Given the description of an element on the screen output the (x, y) to click on. 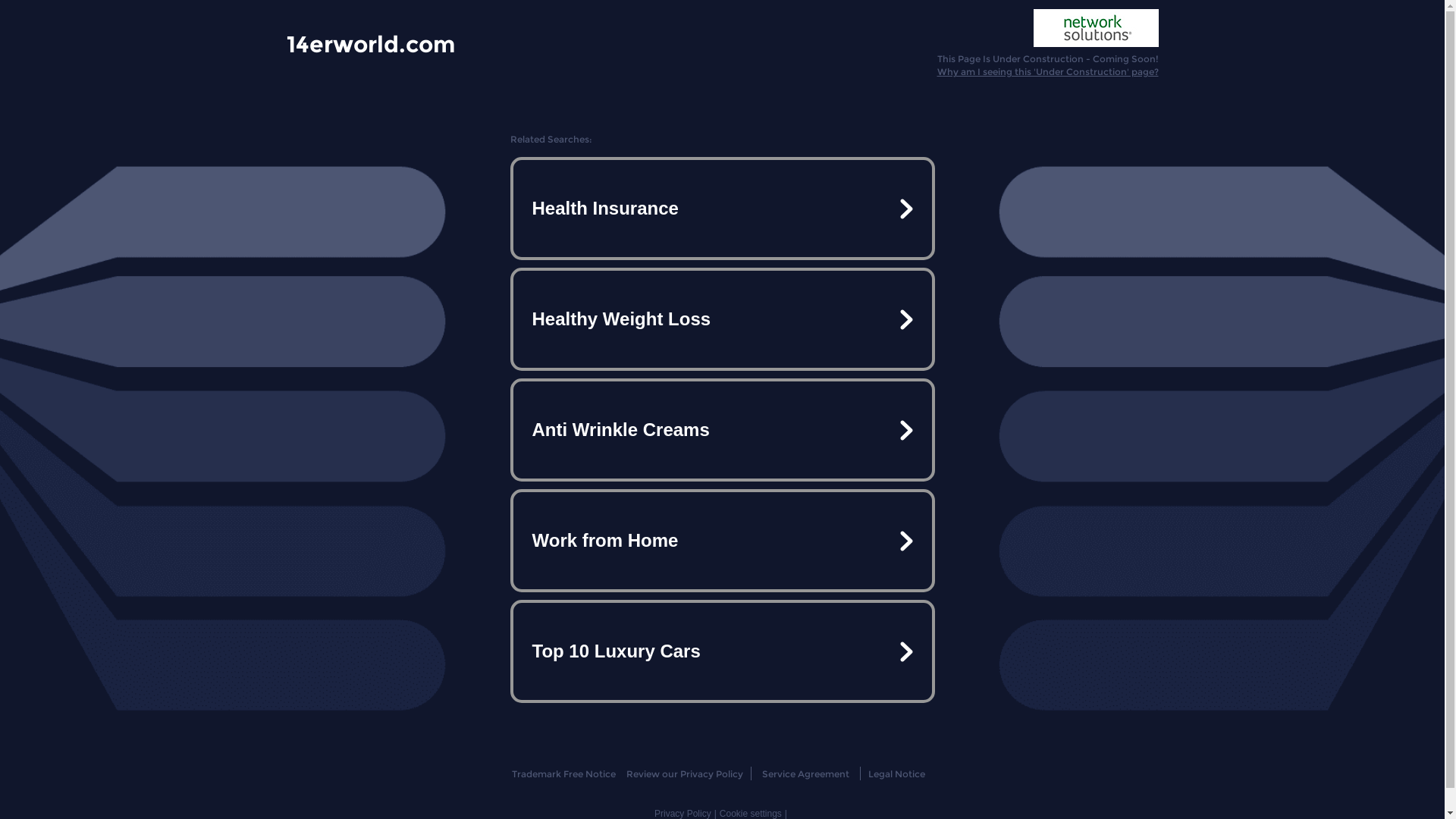
Healthy Weight Loss Element type: text (721, 318)
Why am I seeing this 'Under Construction' page? Element type: text (1047, 71)
Work from Home Element type: text (721, 540)
Top 10 Luxury Cars Element type: text (721, 650)
14erworld.com Element type: text (370, 43)
Legal Notice Element type: text (896, 773)
Trademark Free Notice Element type: text (563, 773)
Health Insurance Element type: text (721, 208)
Review our Privacy Policy Element type: text (684, 773)
Service Agreement Element type: text (805, 773)
Anti Wrinkle Creams Element type: text (721, 429)
